Given the description of an element on the screen output the (x, y) to click on. 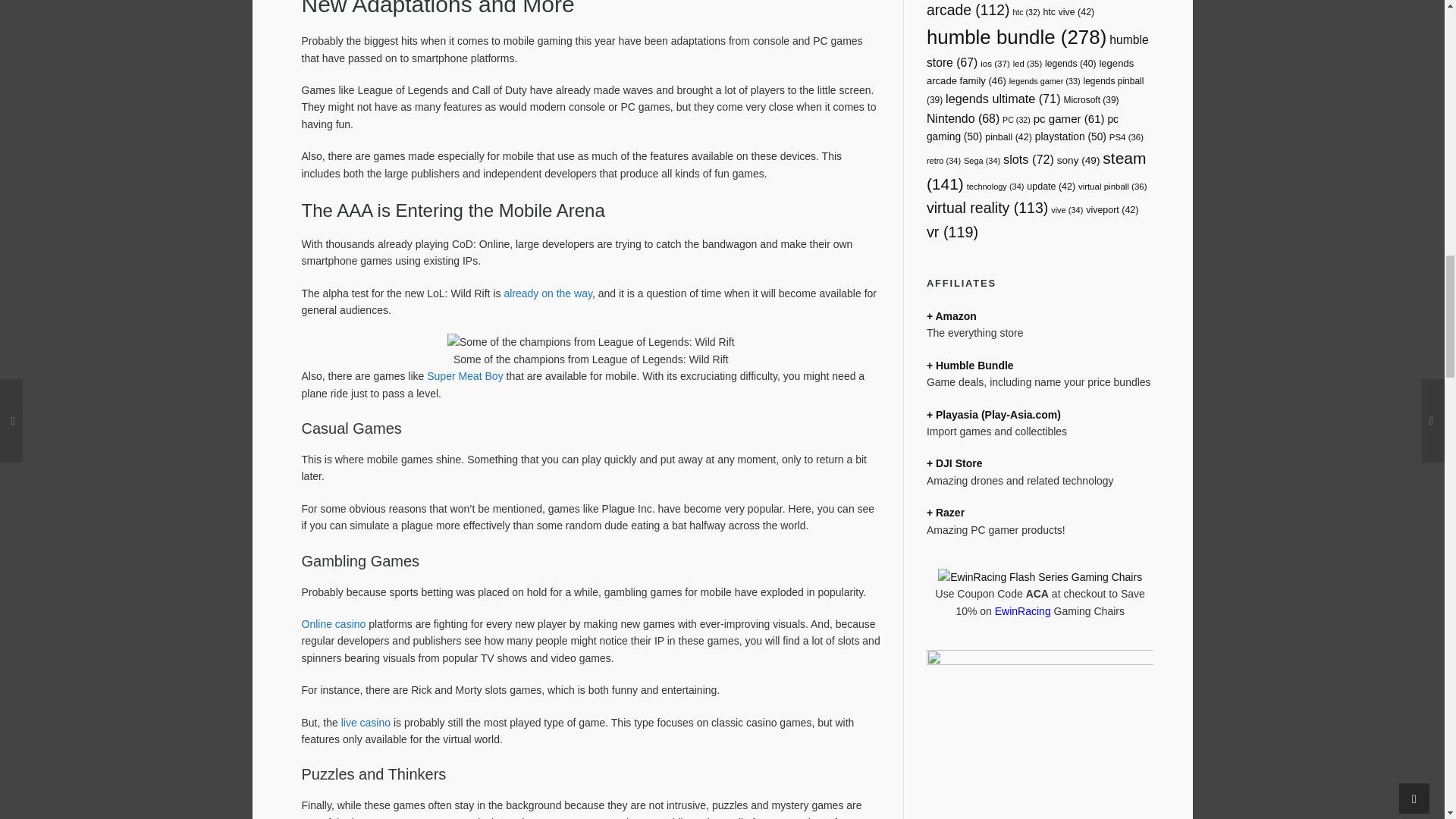
already on the way (547, 293)
live casino (365, 722)
Super Meat Boy (464, 376)
Online casino (333, 623)
